Given the description of an element on the screen output the (x, y) to click on. 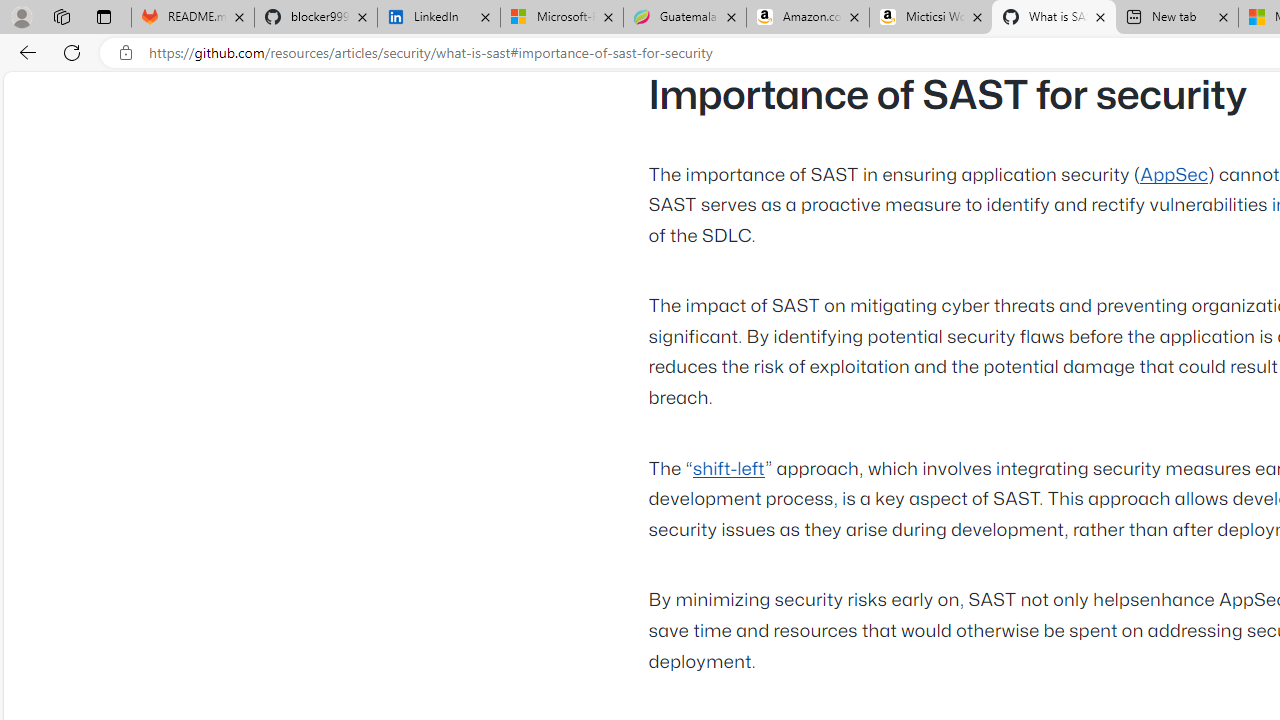
AppSec (1174, 175)
shift-left (728, 469)
